Given the description of an element on the screen output the (x, y) to click on. 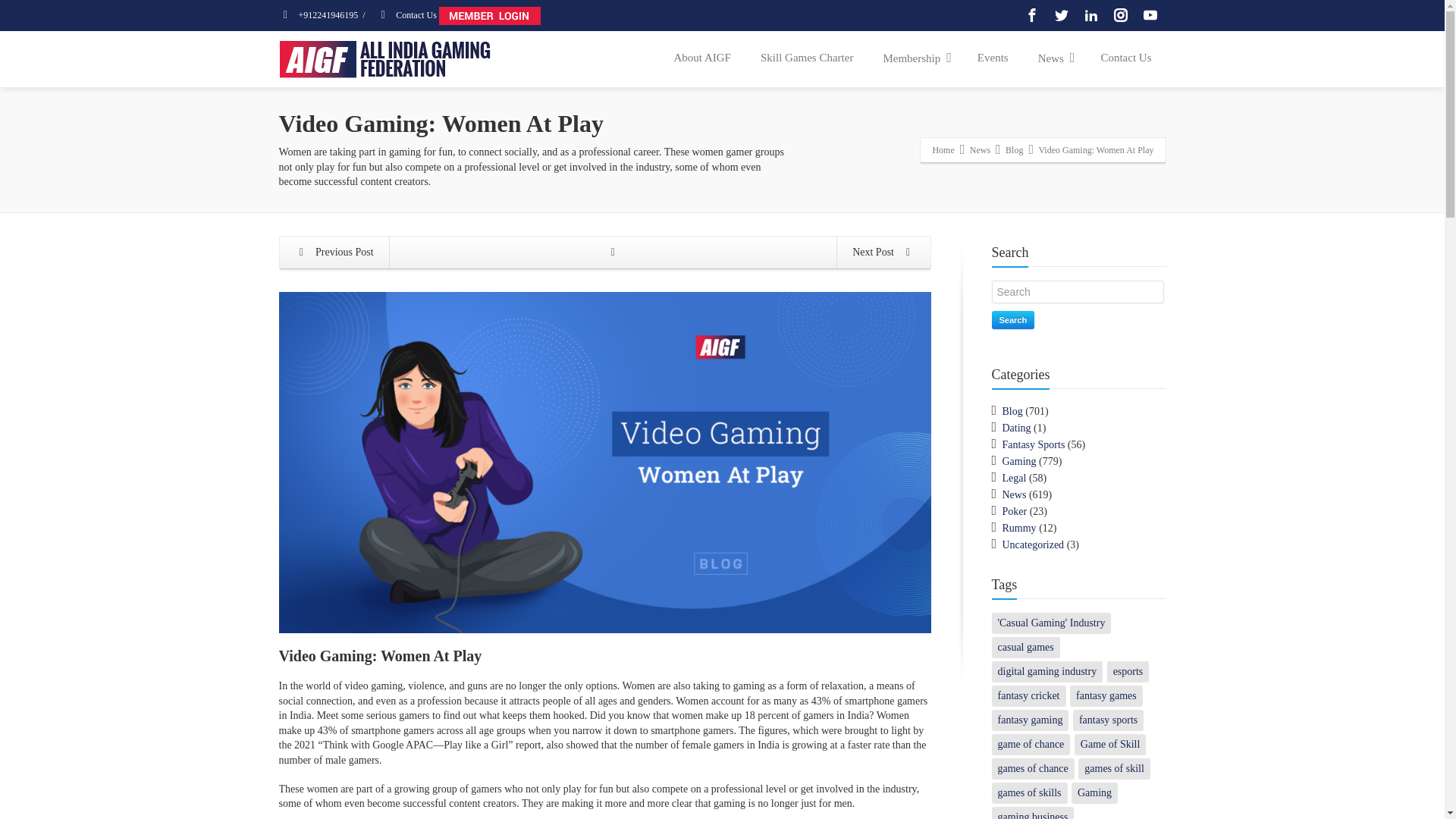
Home (942, 149)
How To Take Your Gaming Abilities To The Next Level (333, 252)
Next Post (883, 252)
News (979, 149)
Membership (913, 58)
Linkedin (1090, 15)
Go to the blog page (612, 252)
Instagram (1120, 15)
News (1054, 58)
Events (992, 58)
